Given the description of an element on the screen output the (x, y) to click on. 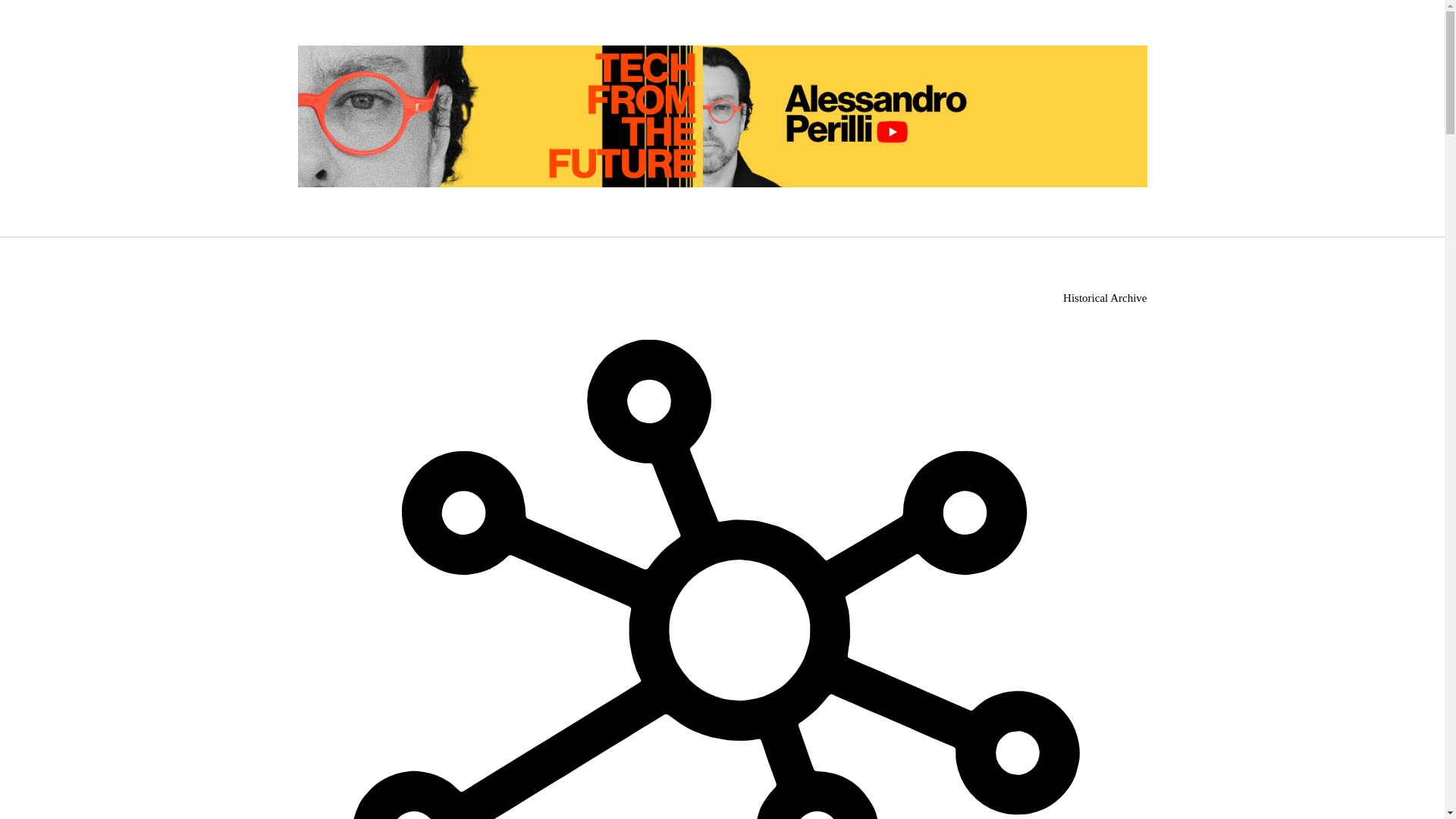
Historical Archive (1104, 298)
